Given the description of an element on the screen output the (x, y) to click on. 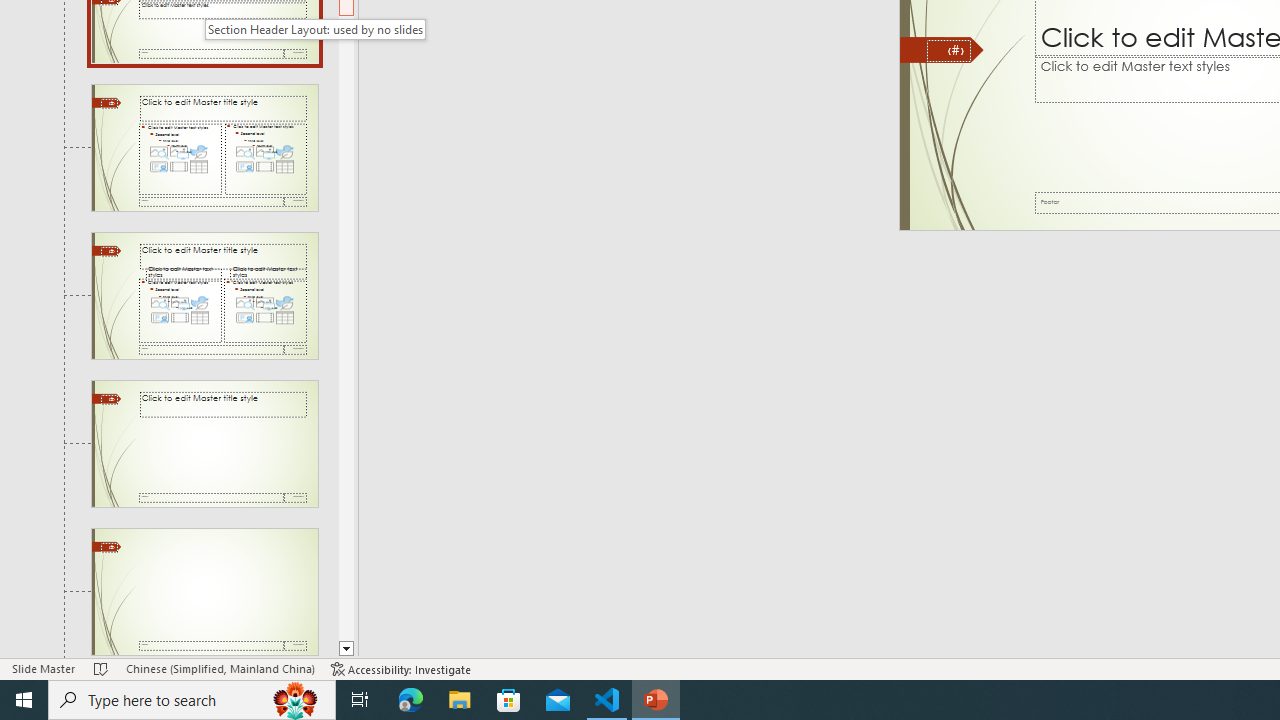
Slide Comparison Layout: used by no slides (204, 296)
Slide Blank Layout: used by no slides (204, 592)
Slide Number (948, 50)
Freeform 11 (941, 49)
Slide Two Content Layout: used by no slides (204, 147)
Slide Title Only Layout: used by no slides (204, 443)
